Given the description of an element on the screen output the (x, y) to click on. 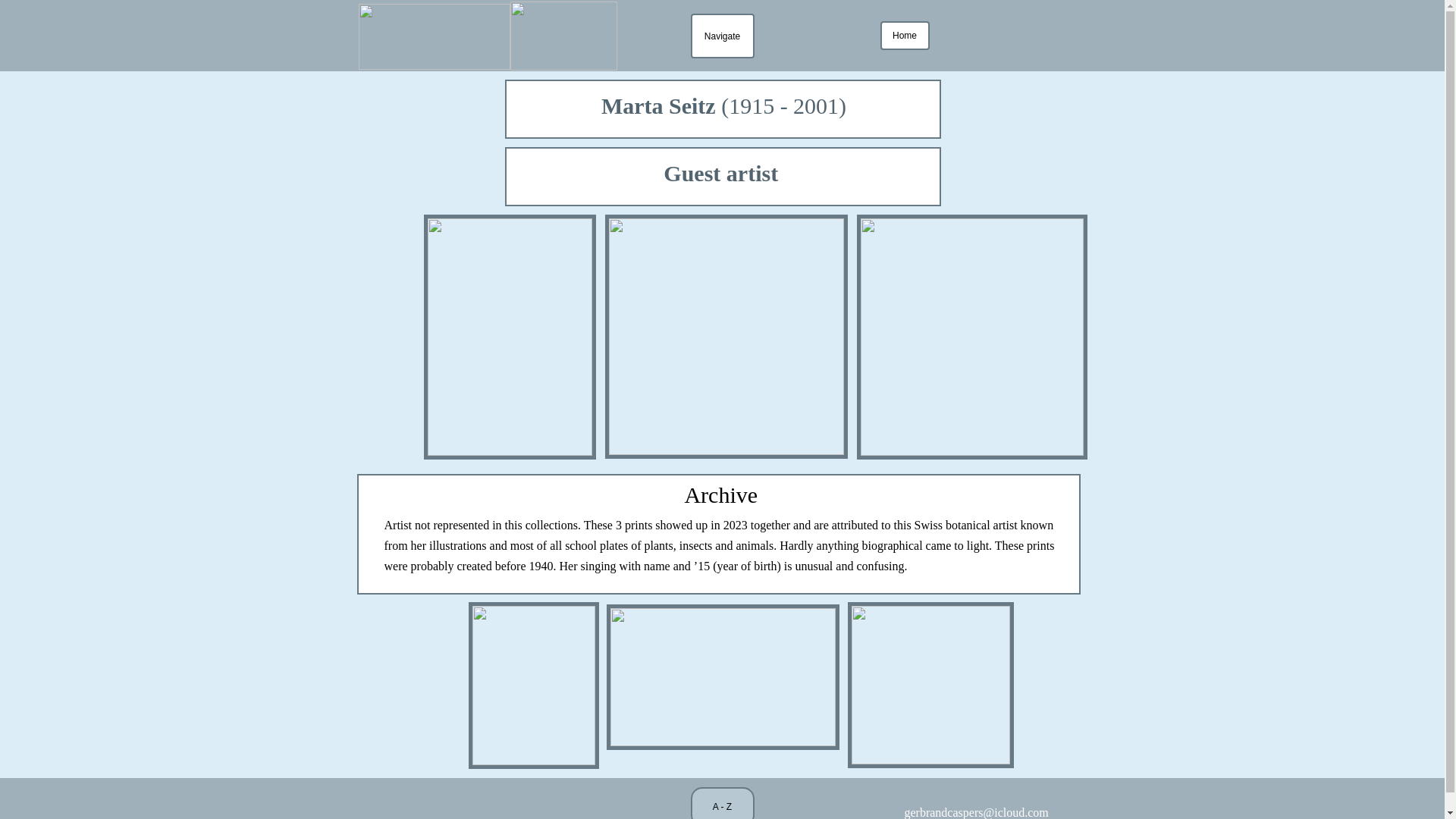
Home (903, 42)
Guest artist  (722, 176)
Navigate (721, 51)
